Given the description of an element on the screen output the (x, y) to click on. 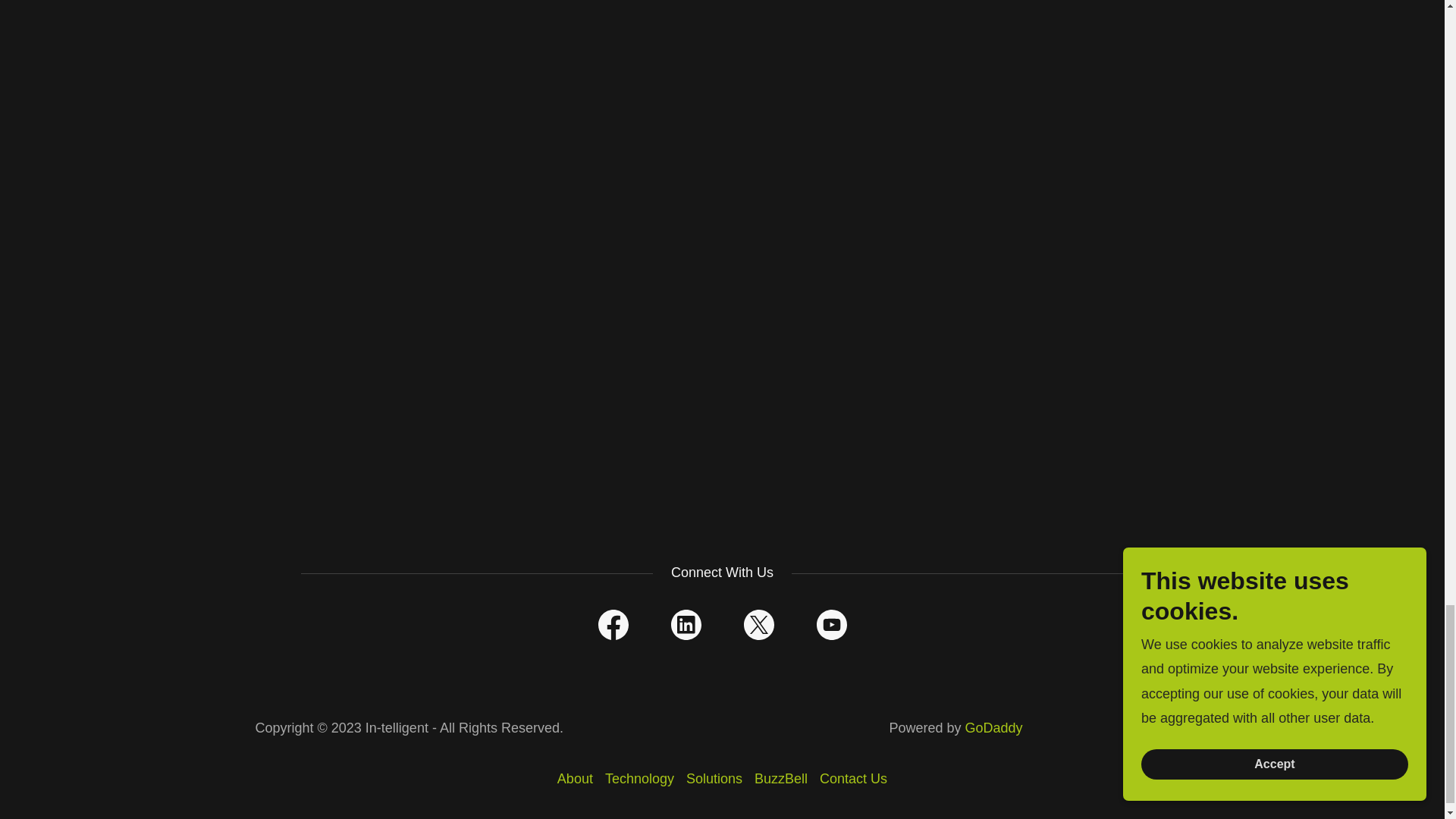
BuzzBell (780, 778)
Technology (638, 778)
Contact Us (853, 778)
Solutions (713, 778)
GoDaddy (992, 727)
About (574, 778)
